Given the description of an element on the screen output the (x, y) to click on. 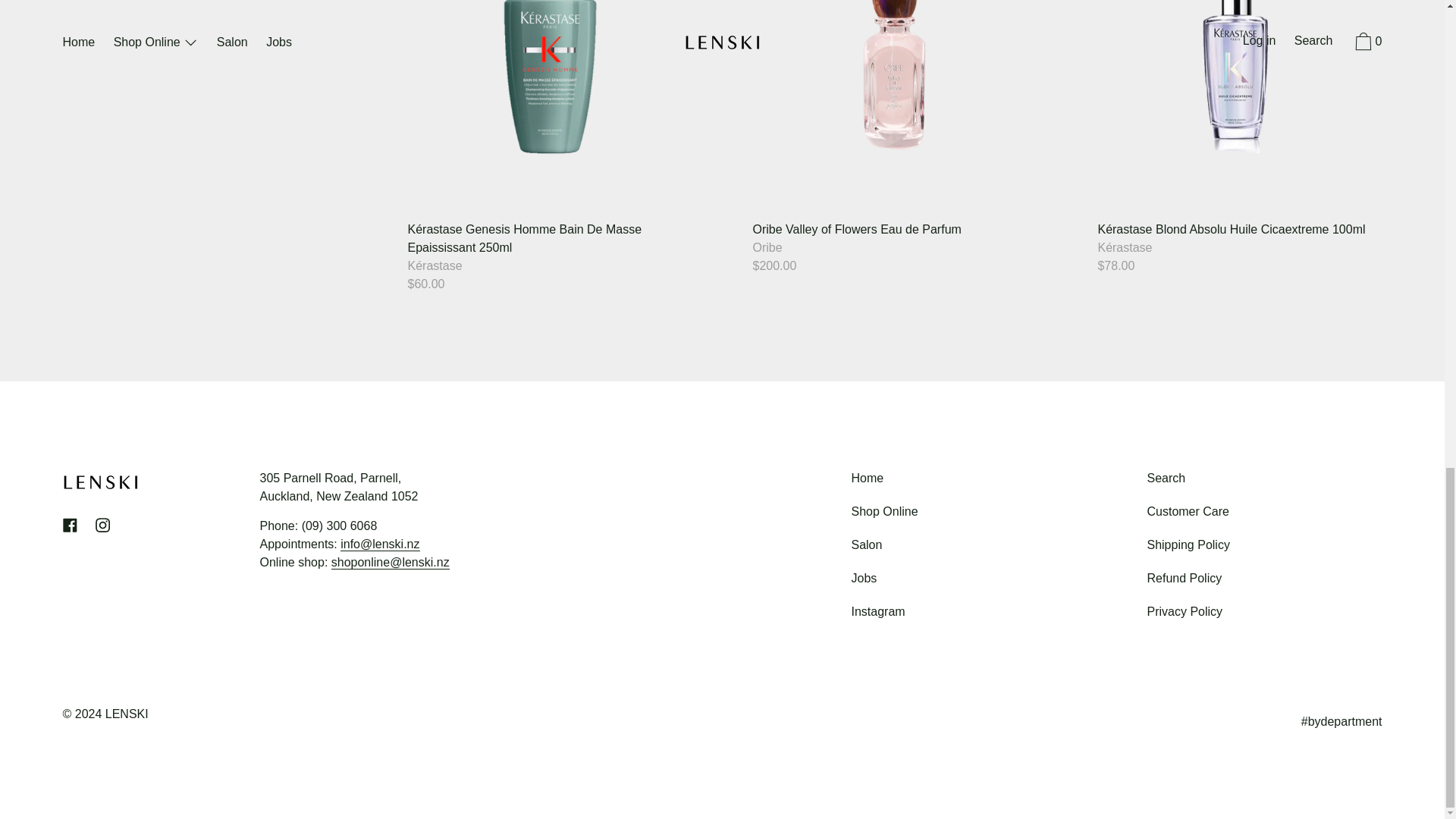
LENSKI on Facebook (69, 524)
LENSKI on Instagram (102, 524)
